Given the description of an element on the screen output the (x, y) to click on. 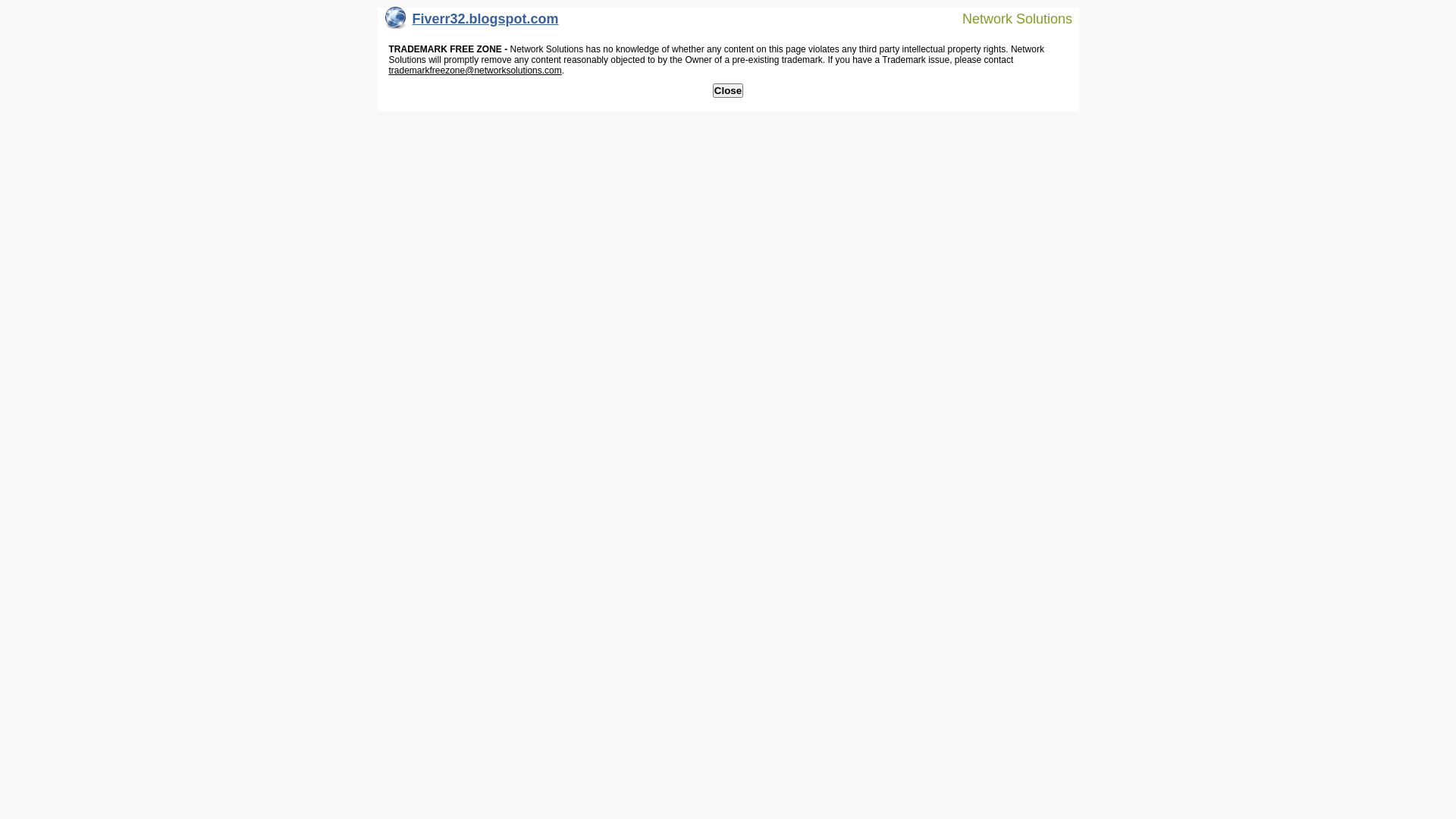
trademarkfreezone@networksolutions.com Element type: text (474, 70)
Close Element type: text (727, 90)
Fiverr32.blogspot.com Element type: text (471, 21)
Network Solutions Element type: text (1007, 17)
